Given the description of an element on the screen output the (x, y) to click on. 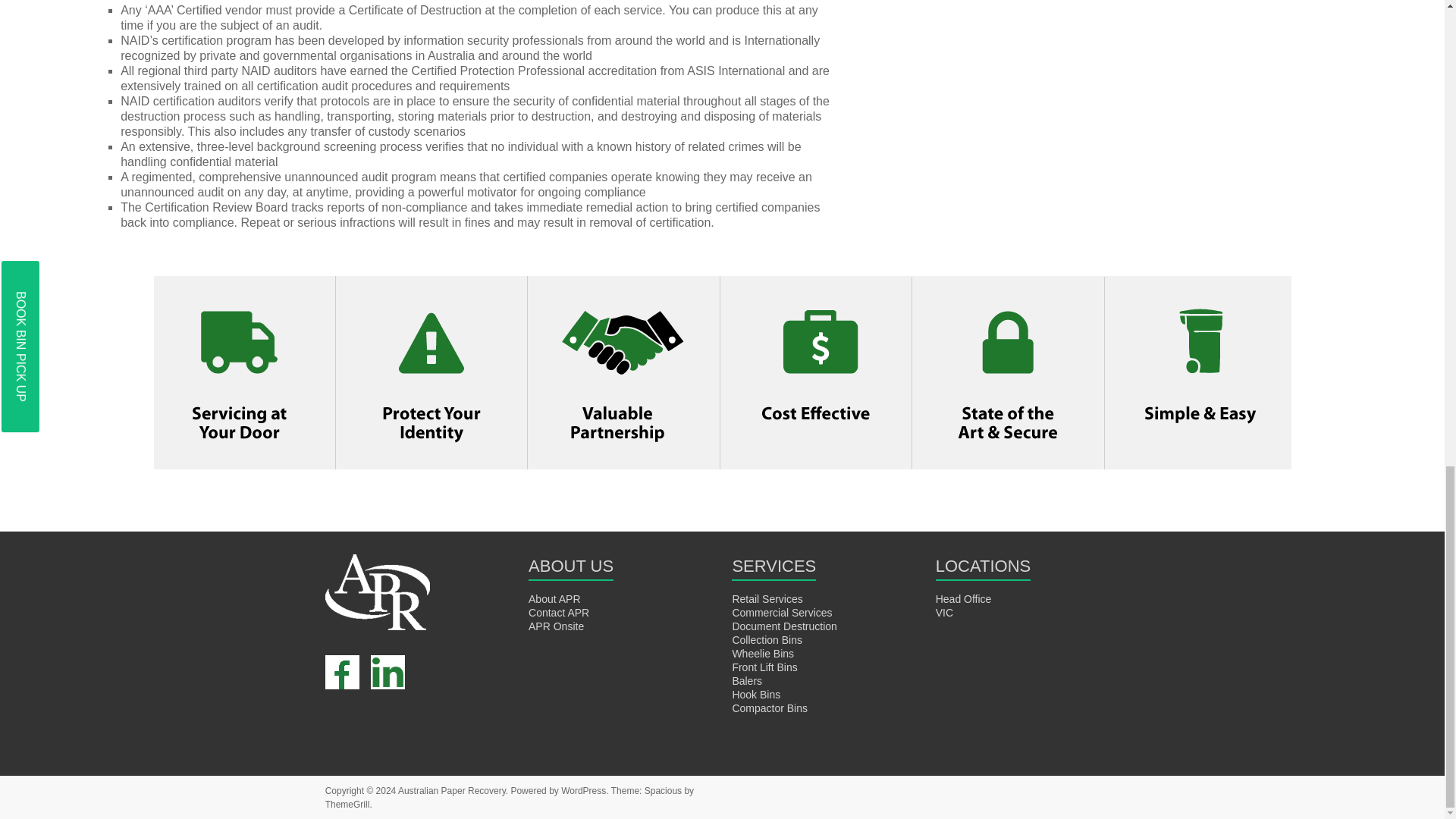
Collection Bins (767, 639)
Balers (746, 680)
WordPress (582, 790)
Contact APR (558, 612)
Head Office (963, 598)
Compactor Bins (770, 707)
Australian Paper Recovery (451, 790)
WordPress (582, 790)
VIC (944, 612)
Retail Services (767, 598)
